Given the description of an element on the screen output the (x, y) to click on. 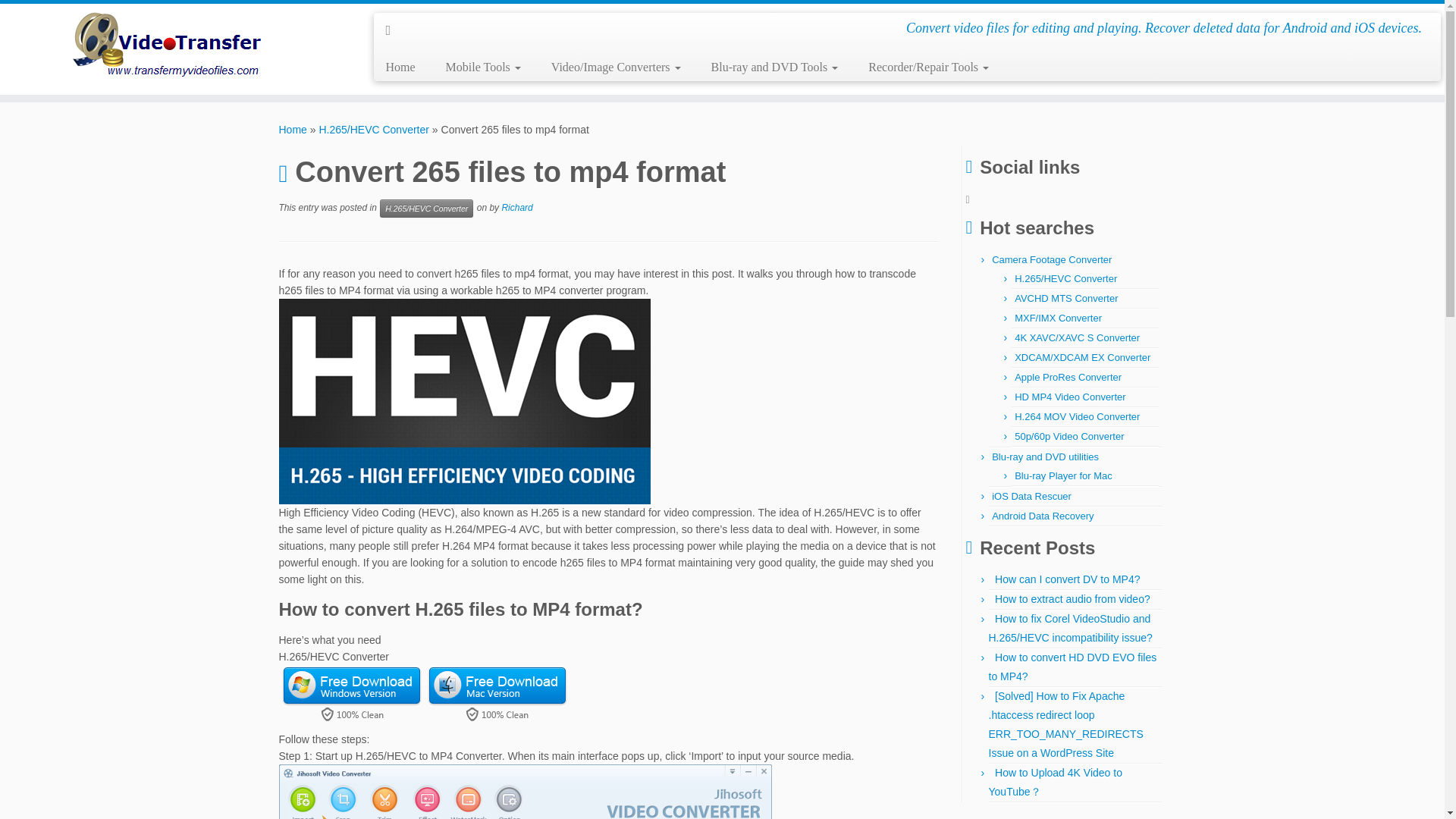
Blu-ray and DVD Tools (774, 67)
Follow us on Rss (392, 29)
Mobile Tools (482, 67)
Home (405, 67)
Richard (516, 207)
View all posts by Richard (516, 207)
Home (293, 129)
Video Transfer (293, 129)
